Given the description of an element on the screen output the (x, y) to click on. 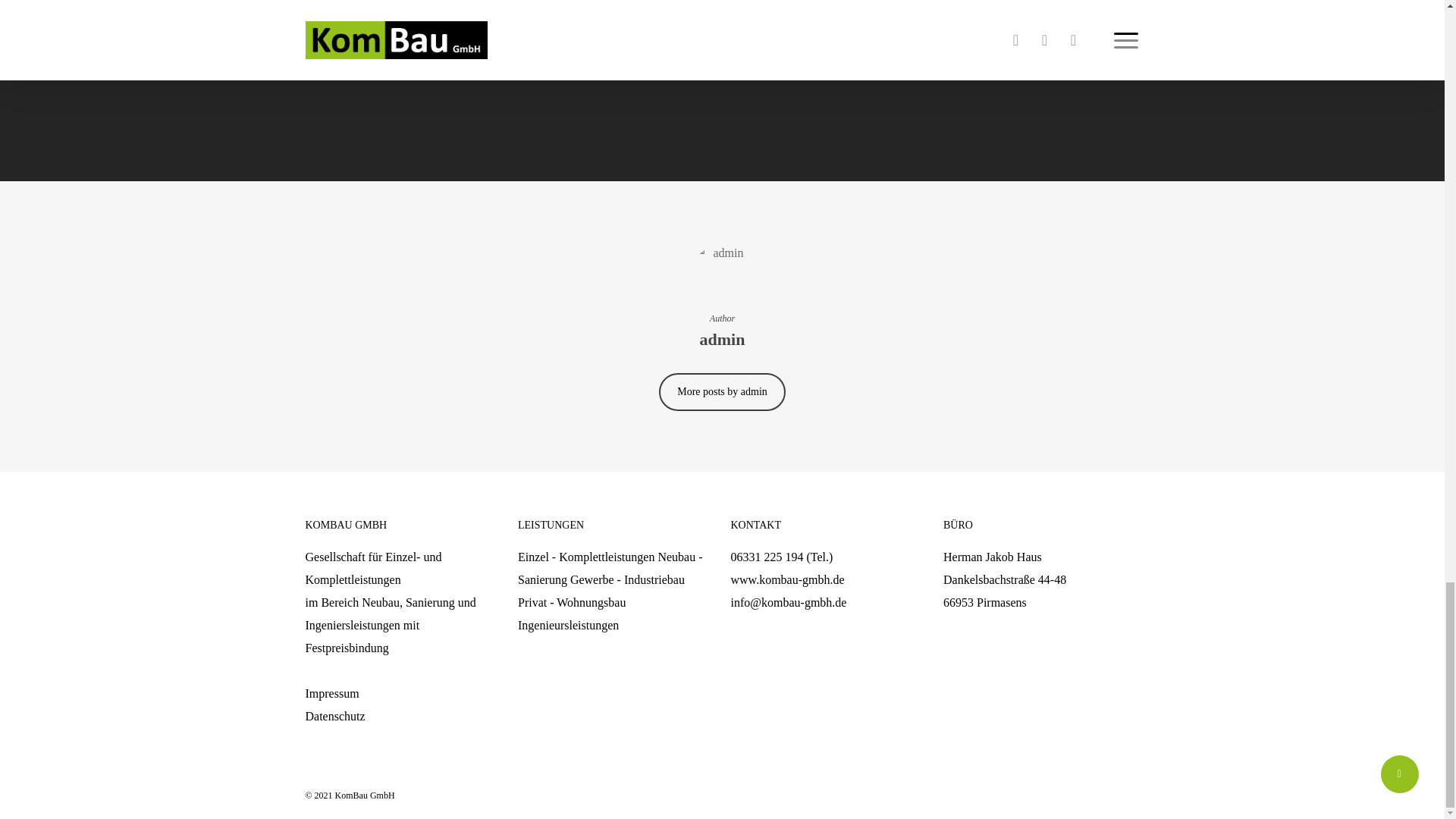
More posts by admin (722, 392)
Datenschutz (334, 716)
Impressum (331, 693)
